Given the description of an element on the screen output the (x, y) to click on. 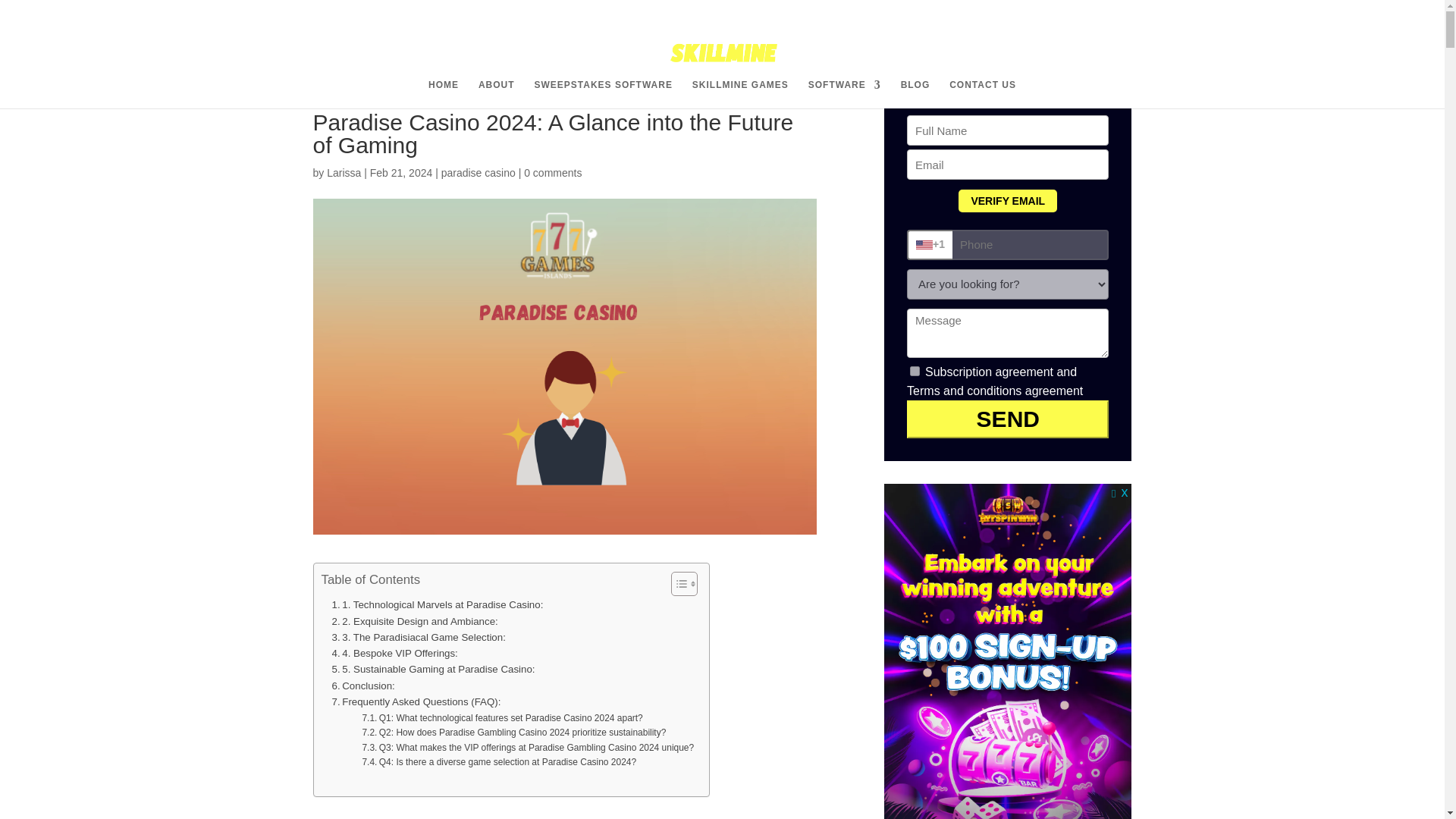
1. Technological Marvels at Paradise Casino: (437, 604)
1 (915, 370)
ABOUT (497, 93)
Terms and conditions (964, 390)
3. The Paradisiacal Game Selection: (418, 637)
0 comments (552, 173)
2. Exquisite Design and Ambiance: (414, 621)
Send (1007, 419)
5. Sustainable Gaming at Paradise Casino: (433, 668)
paradise casino (478, 173)
SWEEPSTAKES SOFTWARE (602, 93)
SOFTWARE (844, 93)
